Given the description of an element on the screen output the (x, y) to click on. 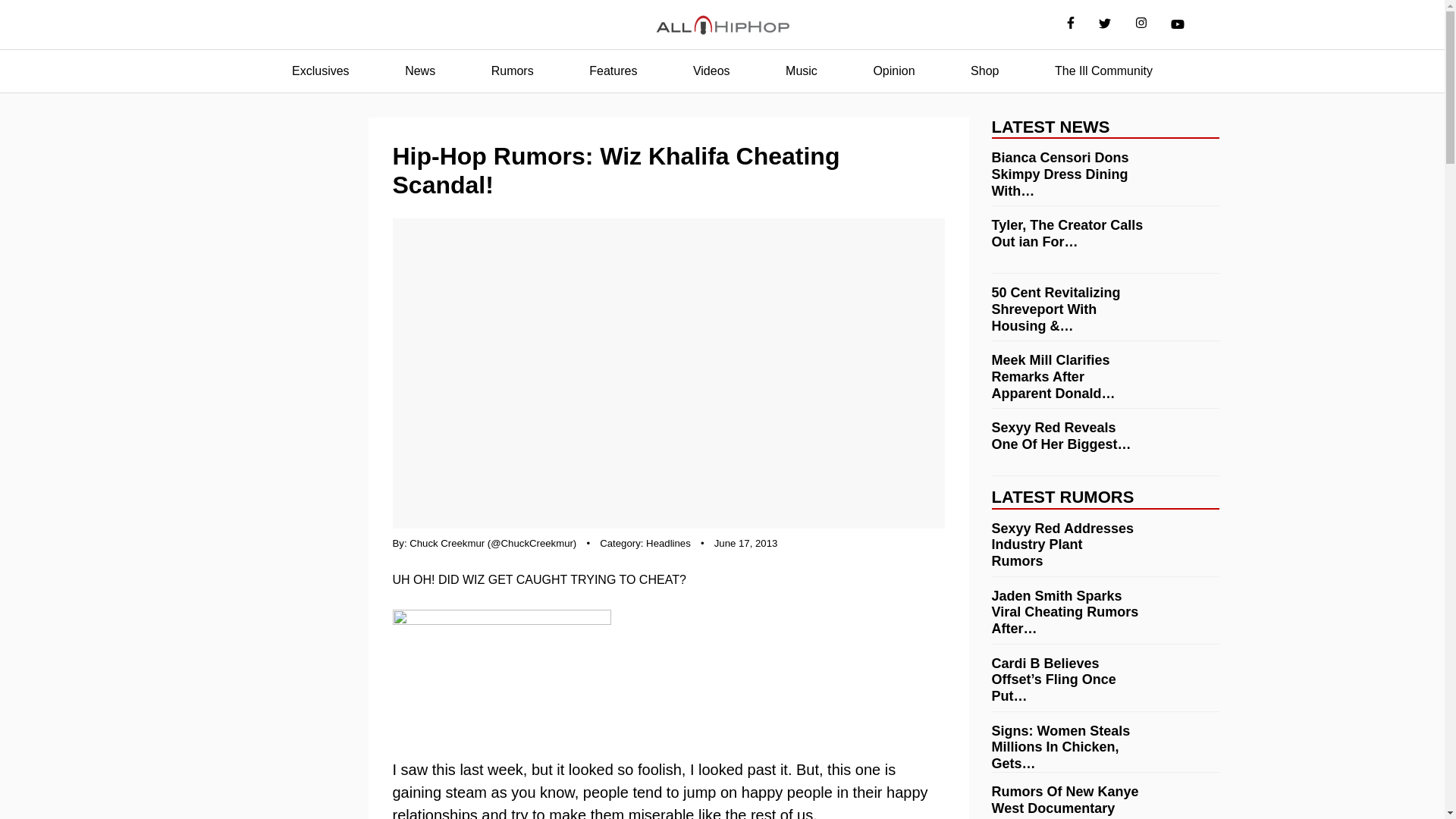
Music (801, 70)
June 17, 2013 (745, 542)
Headlines (668, 542)
Opinion (893, 70)
News (419, 70)
The Ill Community (1103, 70)
Videos (711, 70)
Rumors (512, 70)
Shop (984, 70)
AllHipHop (722, 25)
